Given the description of an element on the screen output the (x, y) to click on. 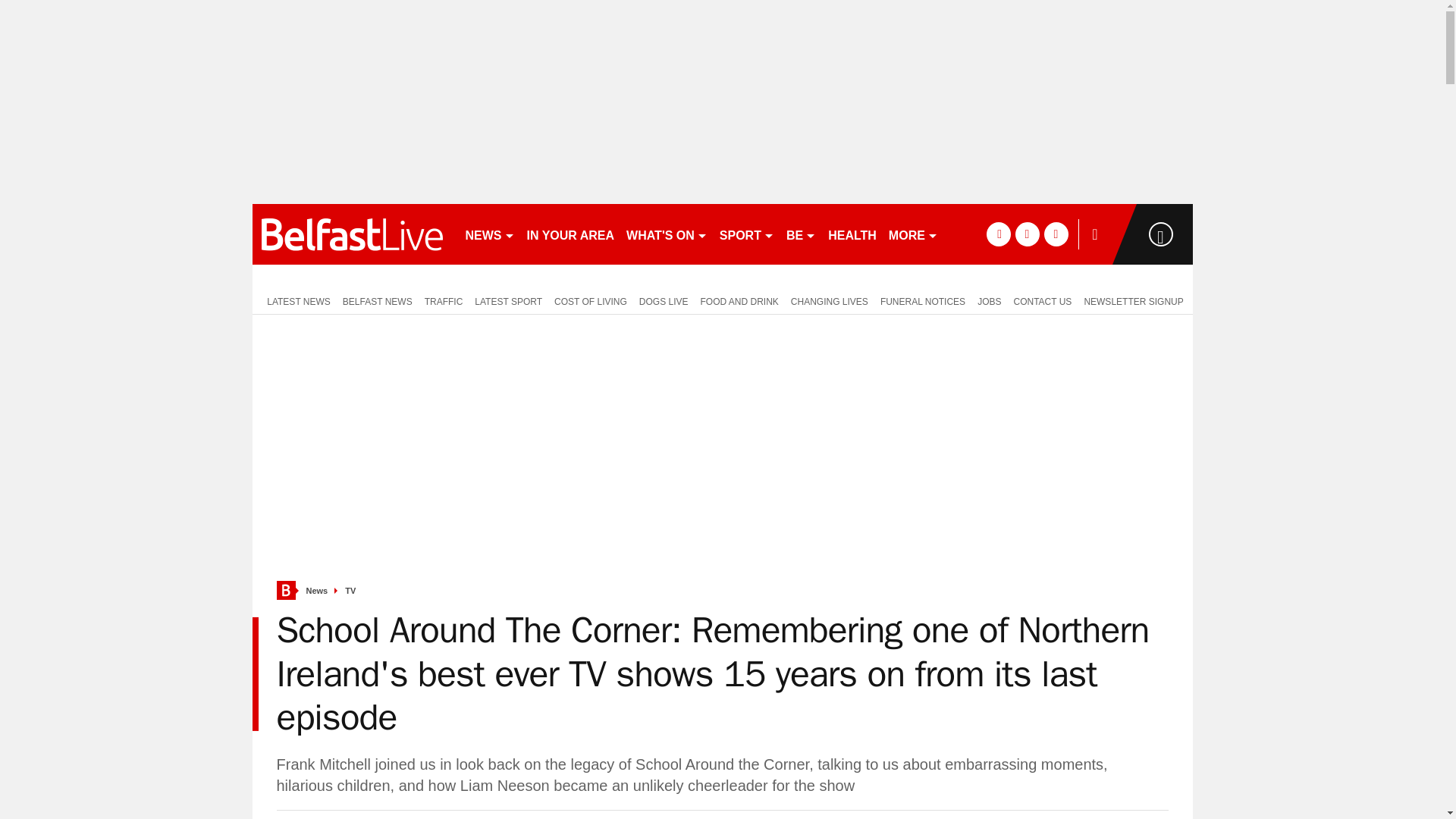
instagram (1055, 233)
facebook (997, 233)
WHAT'S ON (666, 233)
IN YOUR AREA (569, 233)
NEWS (490, 233)
belfastlive (351, 233)
SPORT (746, 233)
twitter (1026, 233)
